Given the description of an element on the screen output the (x, y) to click on. 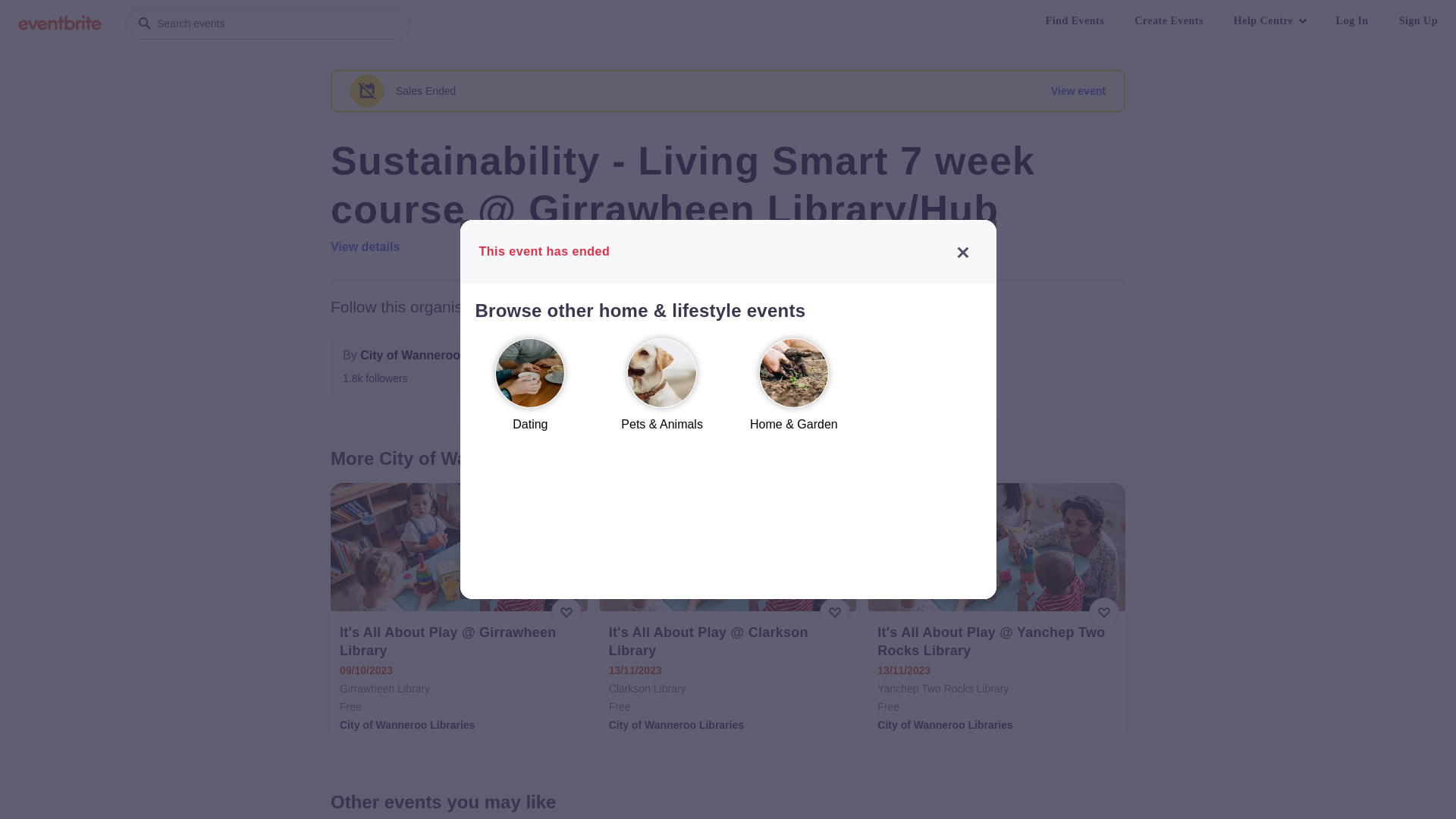
Sign Up Element type: text (1417, 21)
Create Events Element type: text (1168, 21)
It's All About Play @ Girrawheen Library Element type: text (460, 641)
View event Element type: text (1078, 90)
Home & Garden Element type: text (793, 391)
Dating Element type: text (530, 391)
Find Events Element type: text (1074, 21)
Log In Element type: text (1352, 21)
Pets & Animals Element type: text (661, 391)
It's All About Play @ Clarkson Library Element type: text (729, 641)
It's All About Play @ Yanchep Two Rocks Library Element type: text (998, 641)
Eventbrite Element type: hover (59, 22)
Search events Element type: text (268, 22)
Follow Element type: text (567, 365)
View details Element type: text (364, 246)
